Given the description of an element on the screen output the (x, y) to click on. 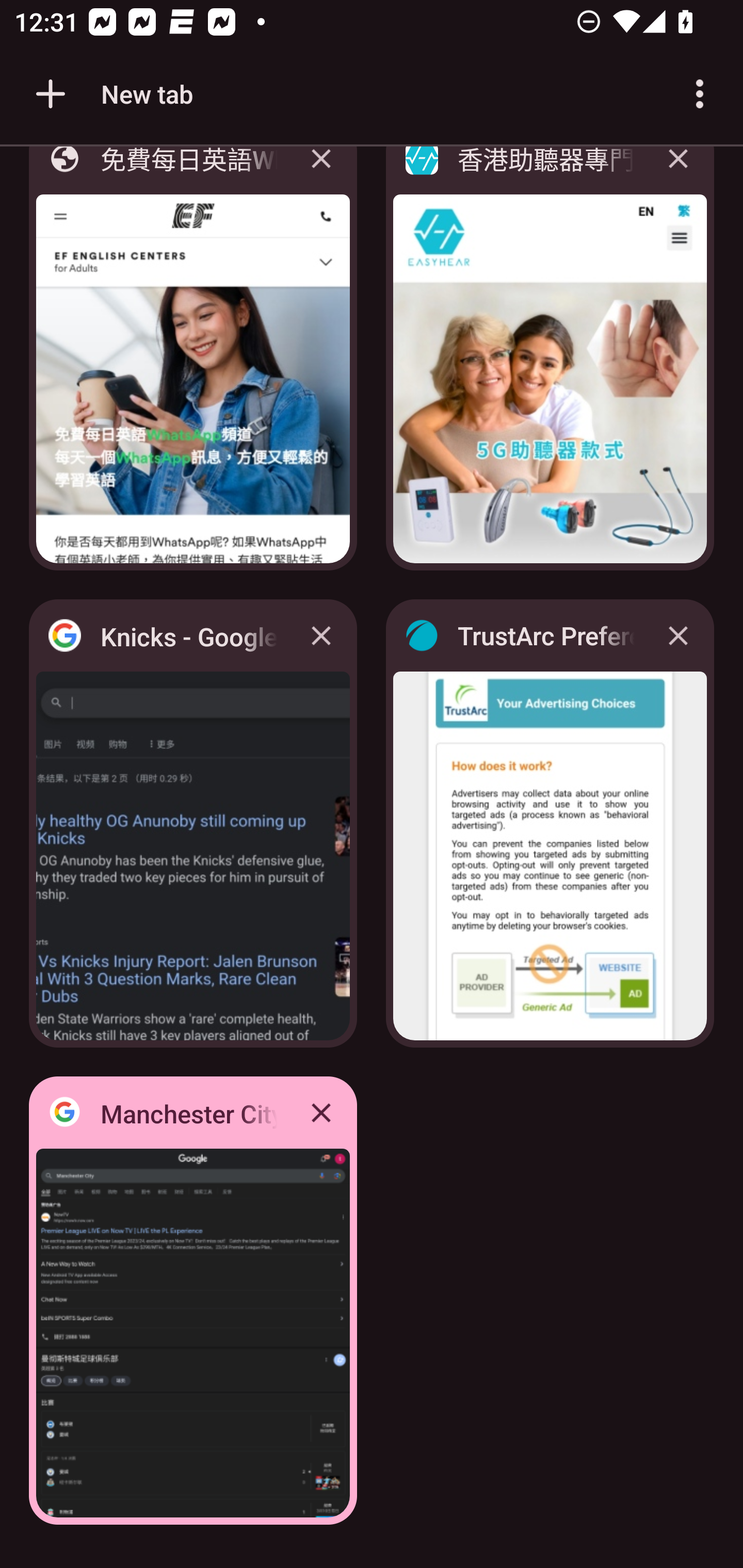
New tab (111, 93)
Customize and control Google Chrome (699, 93)
Close 免費每日英語WhatsApp頻道 tab (320, 173)
Close 香港助聽器專門店 | 5G款式推薦推介 | 購買價錢價格 - 清晰聽 tab (677, 173)
Close Knicks - Google 搜索 tab (320, 635)
Close TrustArc Preference Manager tab (677, 635)
Close Manchester City - Google 搜索 tab (320, 1112)
